Given the description of an element on the screen output the (x, y) to click on. 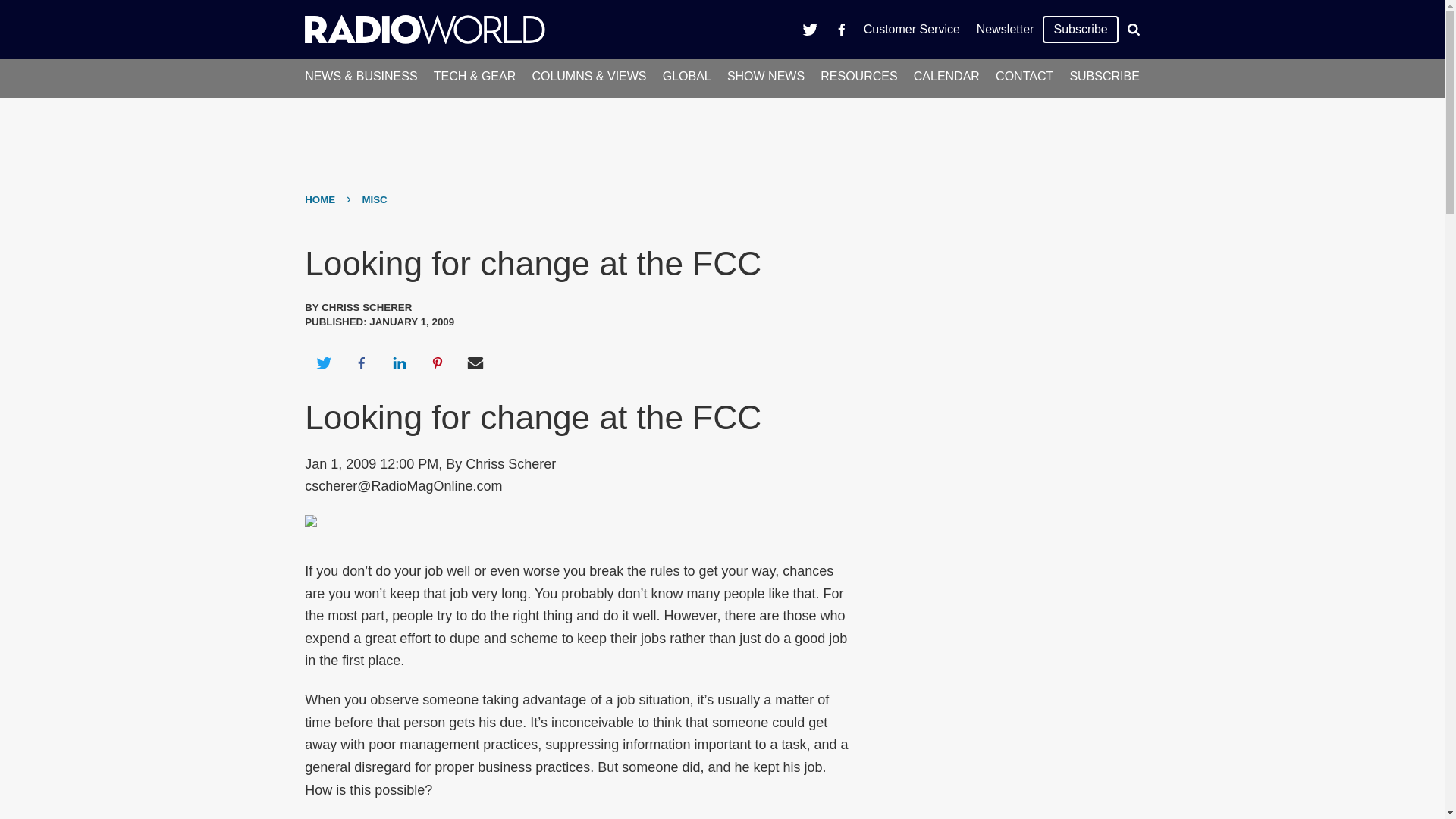
Customer Service (912, 29)
Share via Email (476, 362)
Share on Twitter (323, 362)
Share on LinkedIn (399, 362)
Share on Pinterest (438, 362)
Share on Facebook (361, 362)
